Given the description of an element on the screen output the (x, y) to click on. 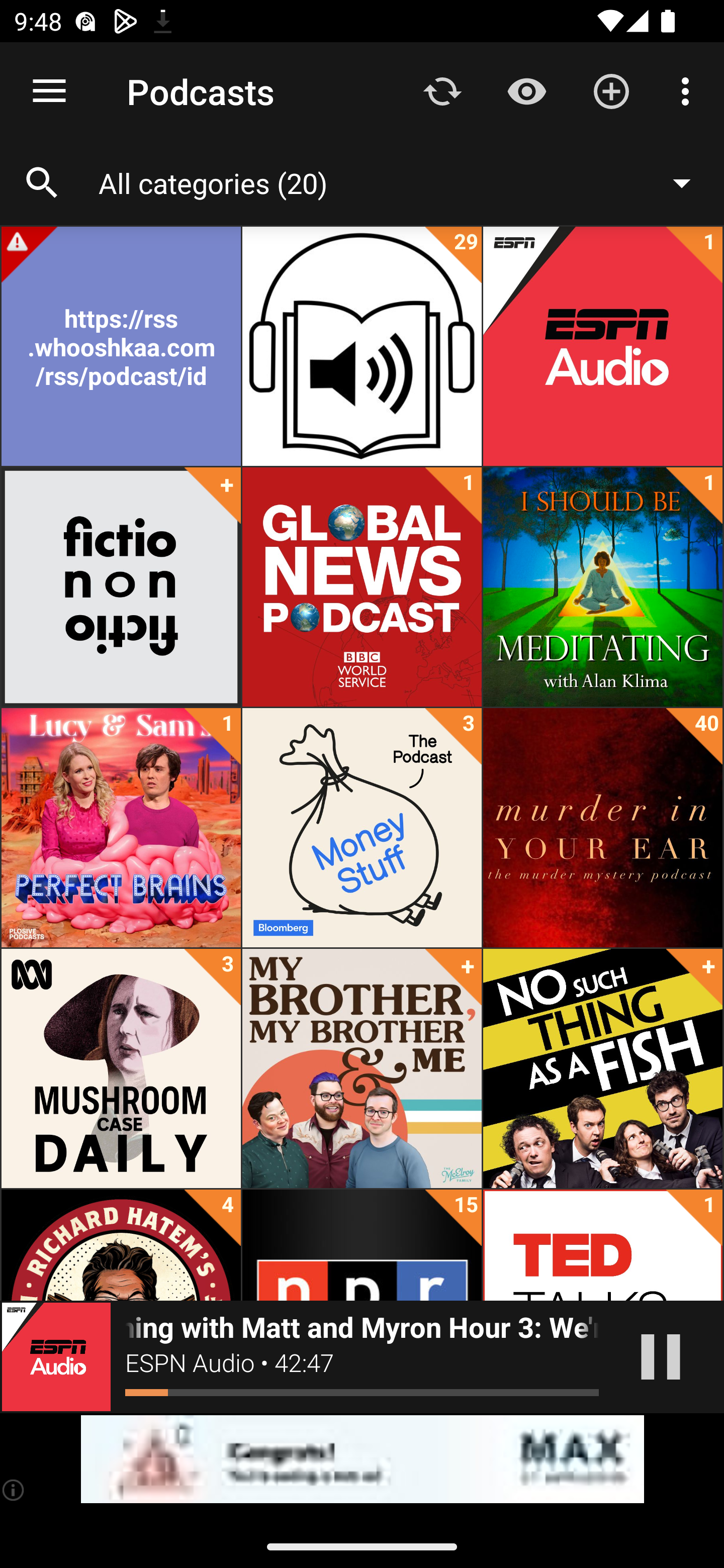
Open navigation sidebar (49, 91)
Update (442, 90)
Show / Hide played content (526, 90)
Add new Podcast (611, 90)
More options (688, 90)
Search (42, 183)
All categories (20) (404, 182)
https://rss.whooshkaa.com/rss/podcast/id/5884 (121, 346)
Audiobooks 29 (361, 346)
ESPN Audio 1 (602, 346)
fiction/non/fiction + (121, 587)
Global News Podcast 1 (361, 587)
Lucy & Sam's Perfect Brains 1 (121, 827)
Money Stuff: The Podcast 3 (361, 827)
Murder In Your Ear-The Murder Mystery Podcast 40 (602, 827)
Mushroom Case Daily 3 (121, 1068)
My Brother, My Brother And Me + (361, 1068)
No Such Thing As A Fish + (602, 1068)
Play / Pause (660, 1356)
app-monetization (362, 1459)
(i) (14, 1489)
